Given the description of an element on the screen output the (x, y) to click on. 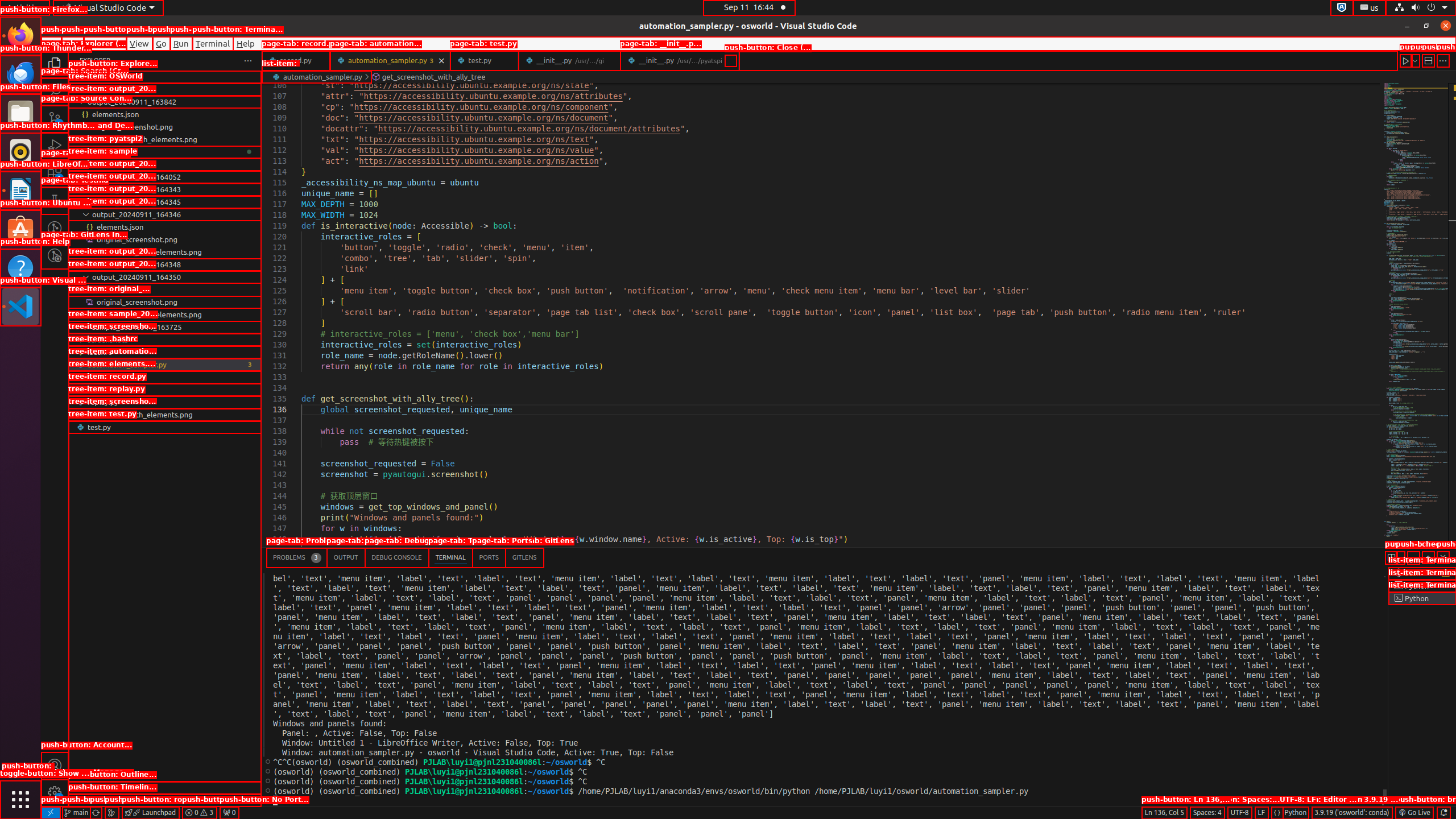
Terminal Element type: push-button (212, 43)
record.py Element type: page-tab (295, 60)
Views and More Actions... Element type: push-button (1413, 557)
Explorer (Ctrl+Shift+E) Element type: page-tab (54, 63)
Firefox Web Browser Element type: push-button (20, 35)
